Given the description of an element on the screen output the (x, y) to click on. 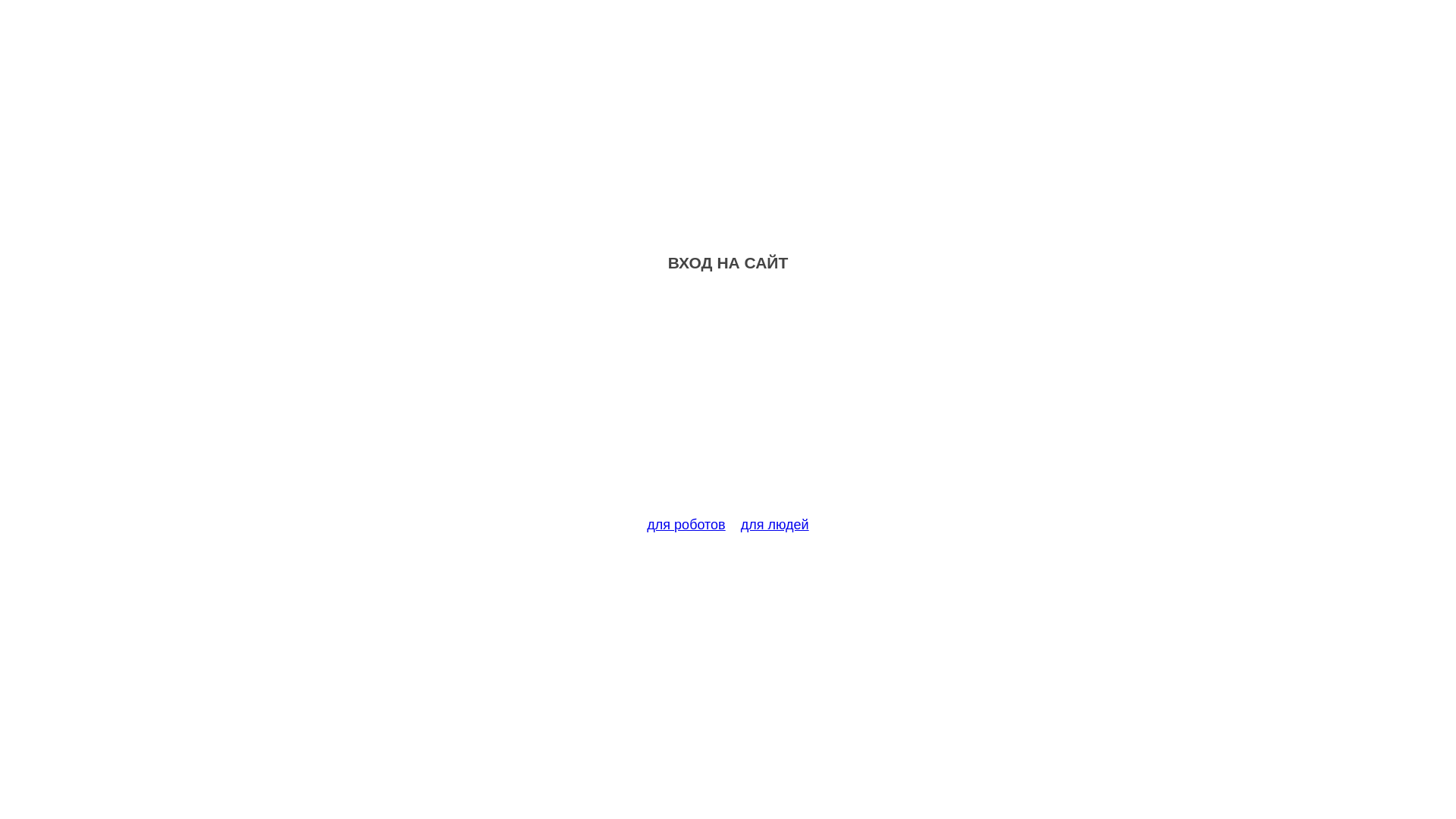
Advertisement Element type: hover (727, 403)
